Given the description of an element on the screen output the (x, y) to click on. 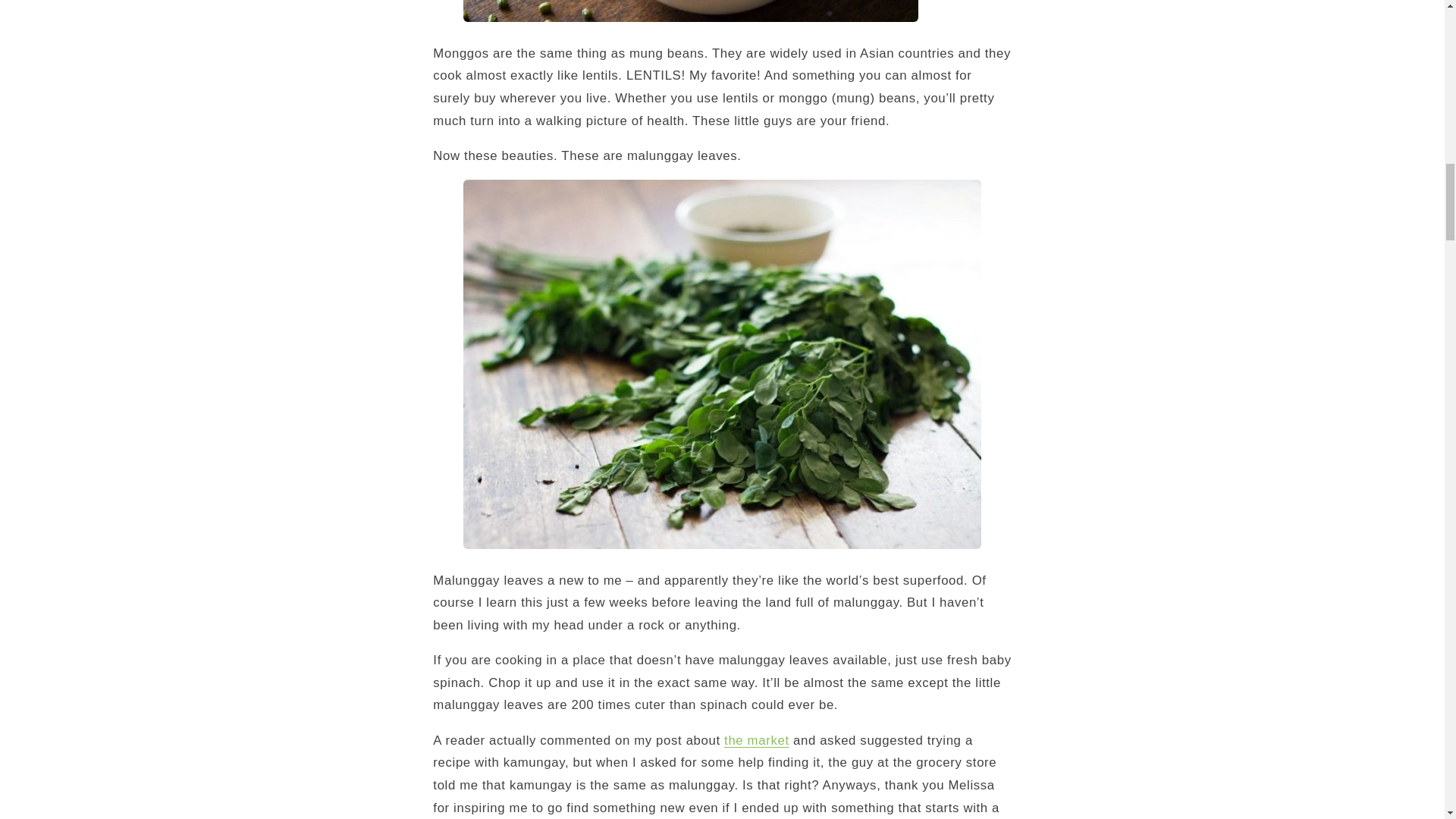
the market (756, 740)
